Given the description of an element on the screen output the (x, y) to click on. 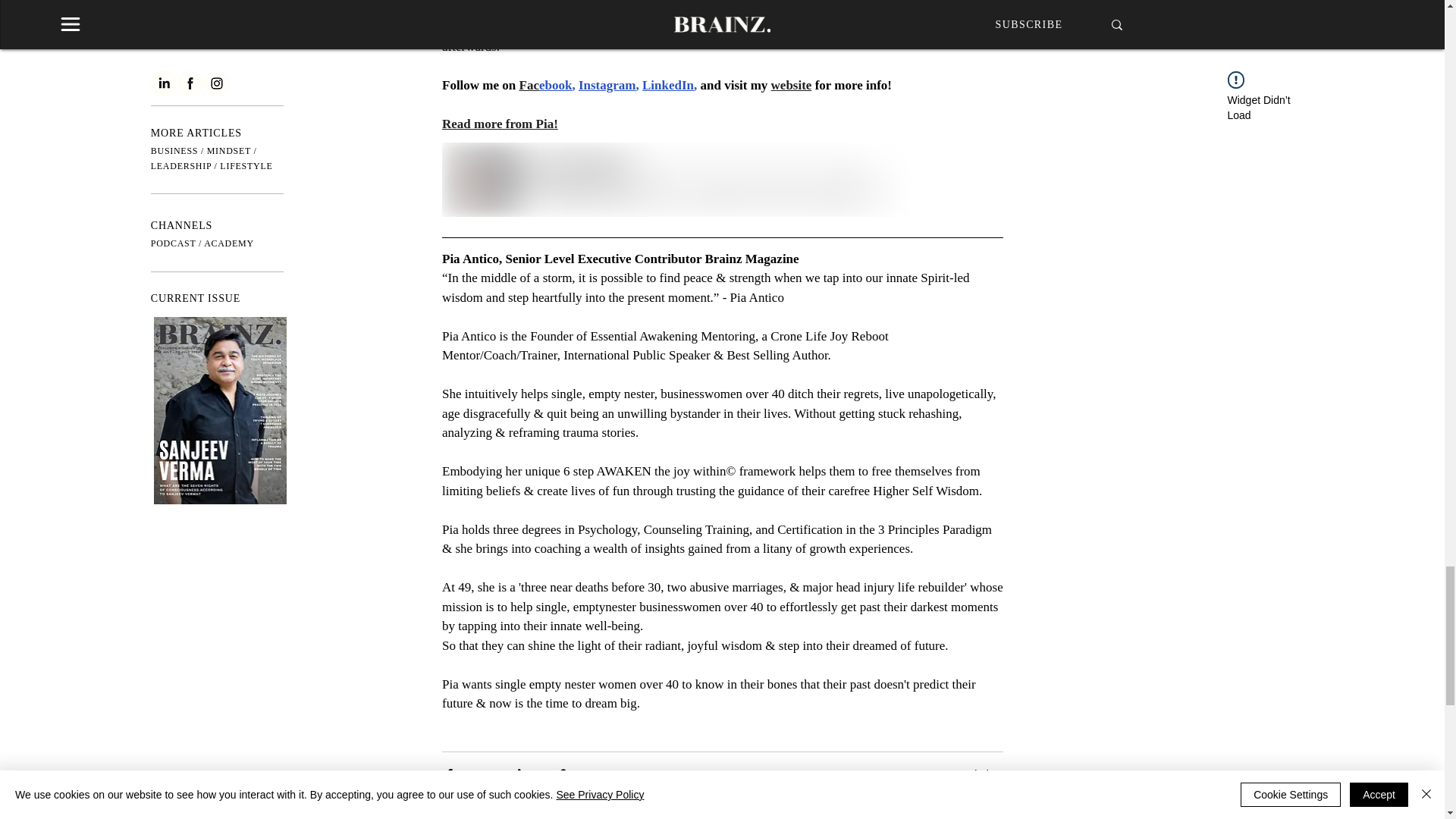
ebook (554, 84)
Fac (528, 84)
Read more from Pia! (499, 124)
Instagram (606, 84)
Mindset (984, 774)
website (790, 84)
LinkedIn (667, 84)
